Given the description of an element on the screen output the (x, y) to click on. 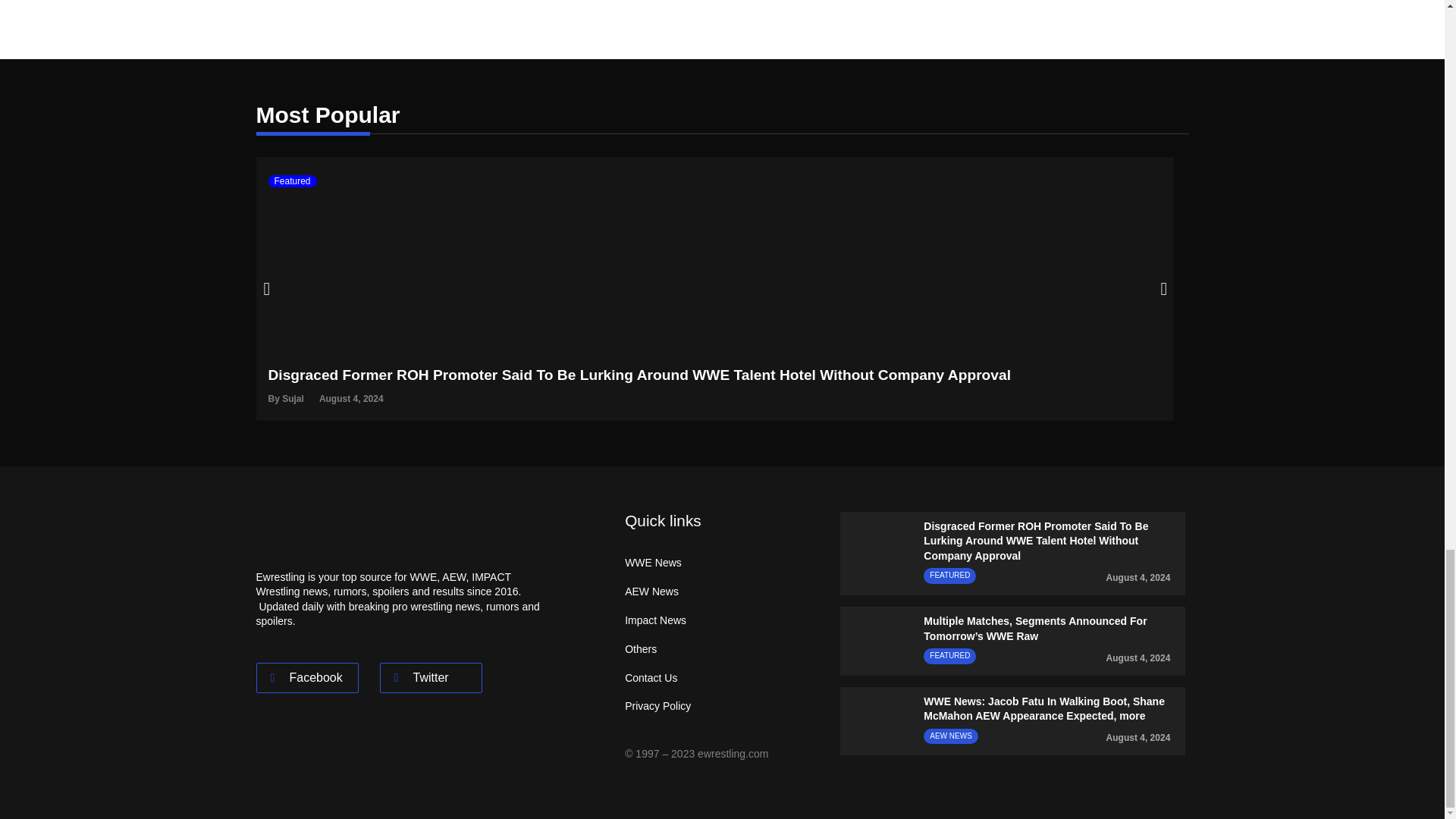
Posts by Sujal (292, 398)
